Given the description of an element on the screen output the (x, y) to click on. 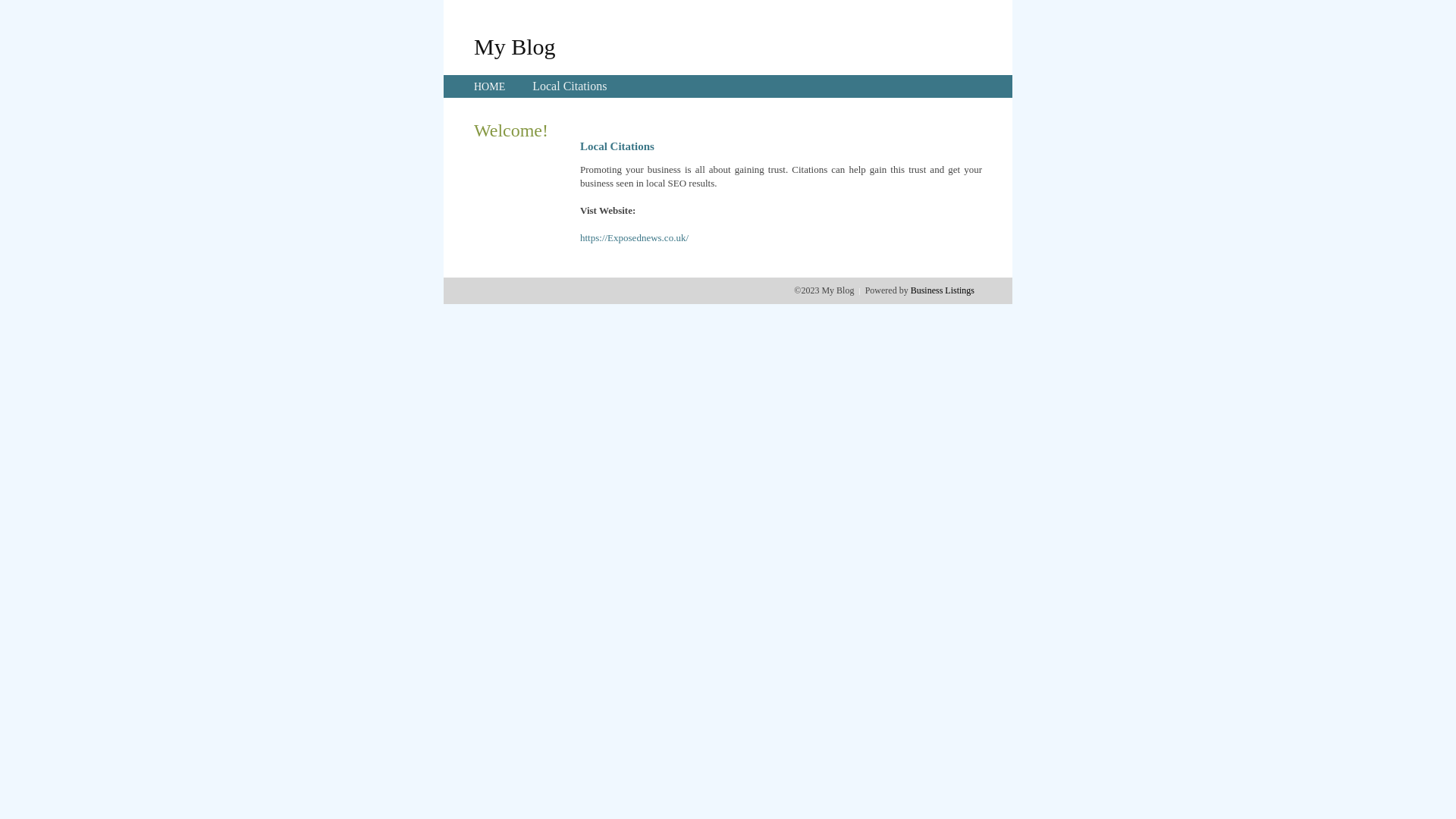
Local Citations Element type: text (569, 85)
https://Exposednews.co.uk/ Element type: text (634, 237)
Business Listings Element type: text (942, 290)
HOME Element type: text (489, 86)
My Blog Element type: text (514, 46)
